Given the description of an element on the screen output the (x, y) to click on. 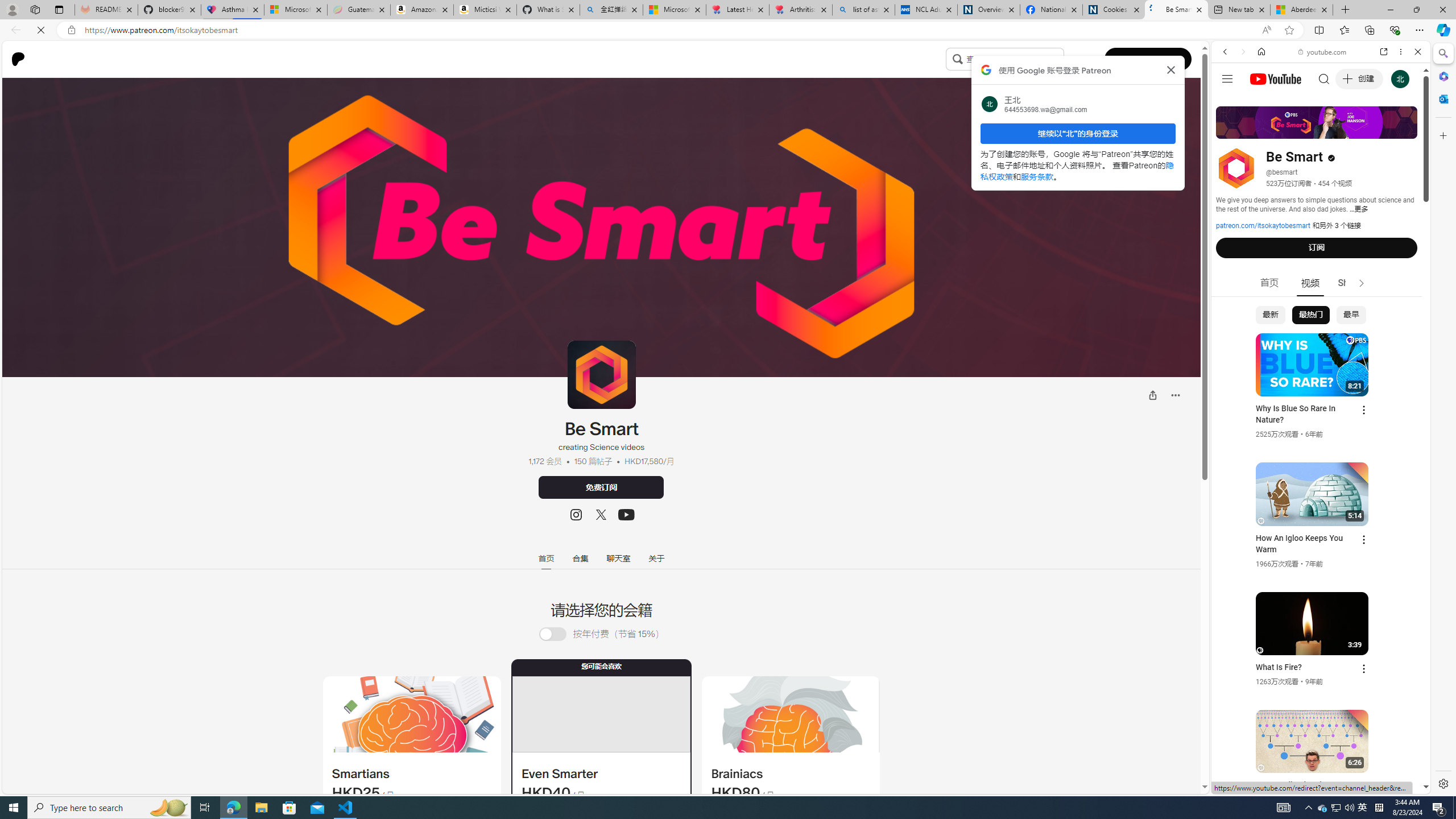
Click to scroll right (1407, 456)
YouTube - YouTube (1315, 560)
Class: sc-gUQvok bqiJlM (1059, 58)
